Given the description of an element on the screen output the (x, y) to click on. 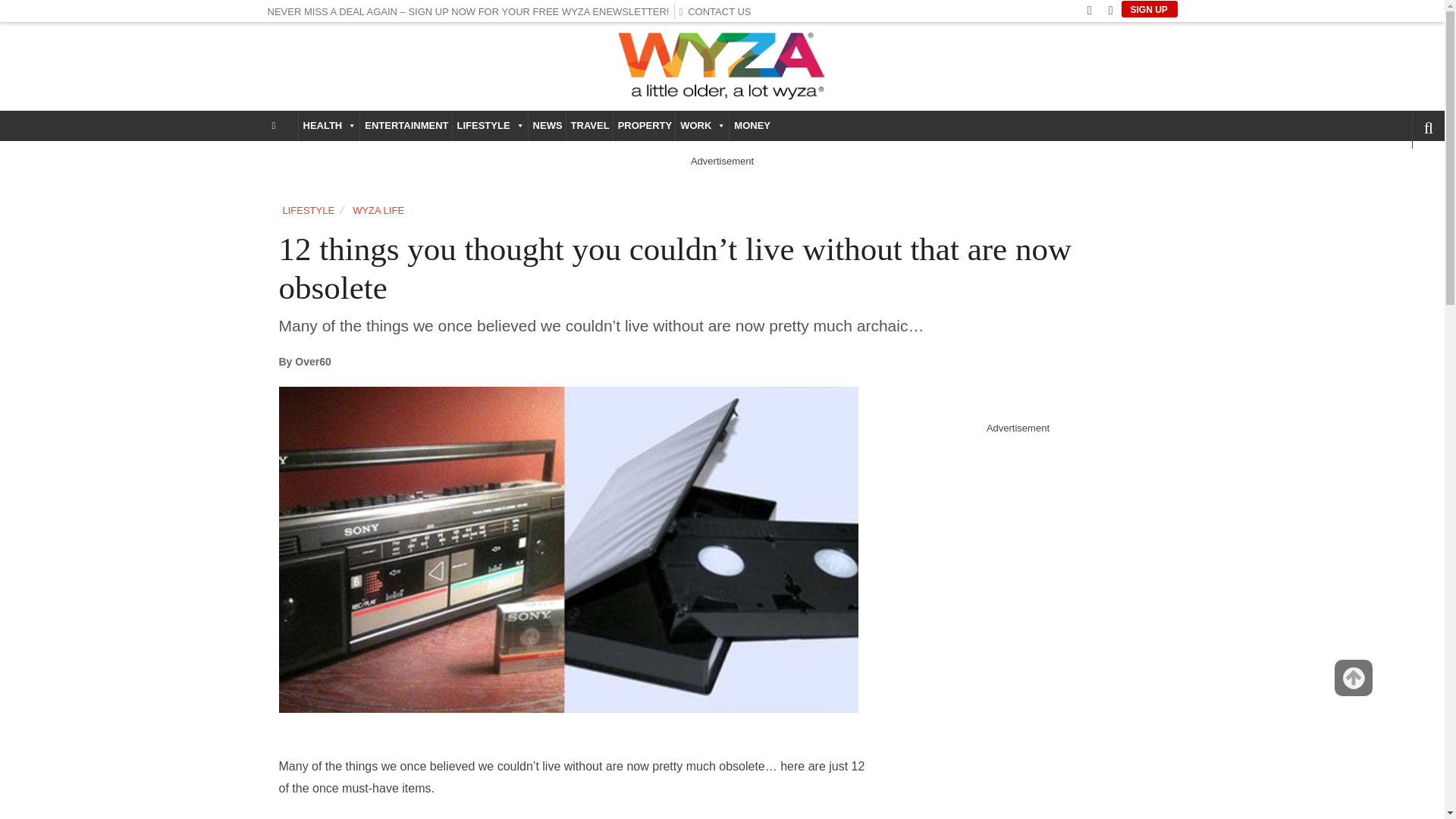
SIGN UP (1148, 8)
CONTACT US (718, 11)
Search (1402, 170)
ENTERTAINMENT (405, 125)
PROPERTY (643, 125)
TRAVEL (589, 125)
MONEY (751, 125)
HEALTH (328, 125)
NEWS (547, 125)
WORK (702, 125)
